Given the description of an element on the screen output the (x, y) to click on. 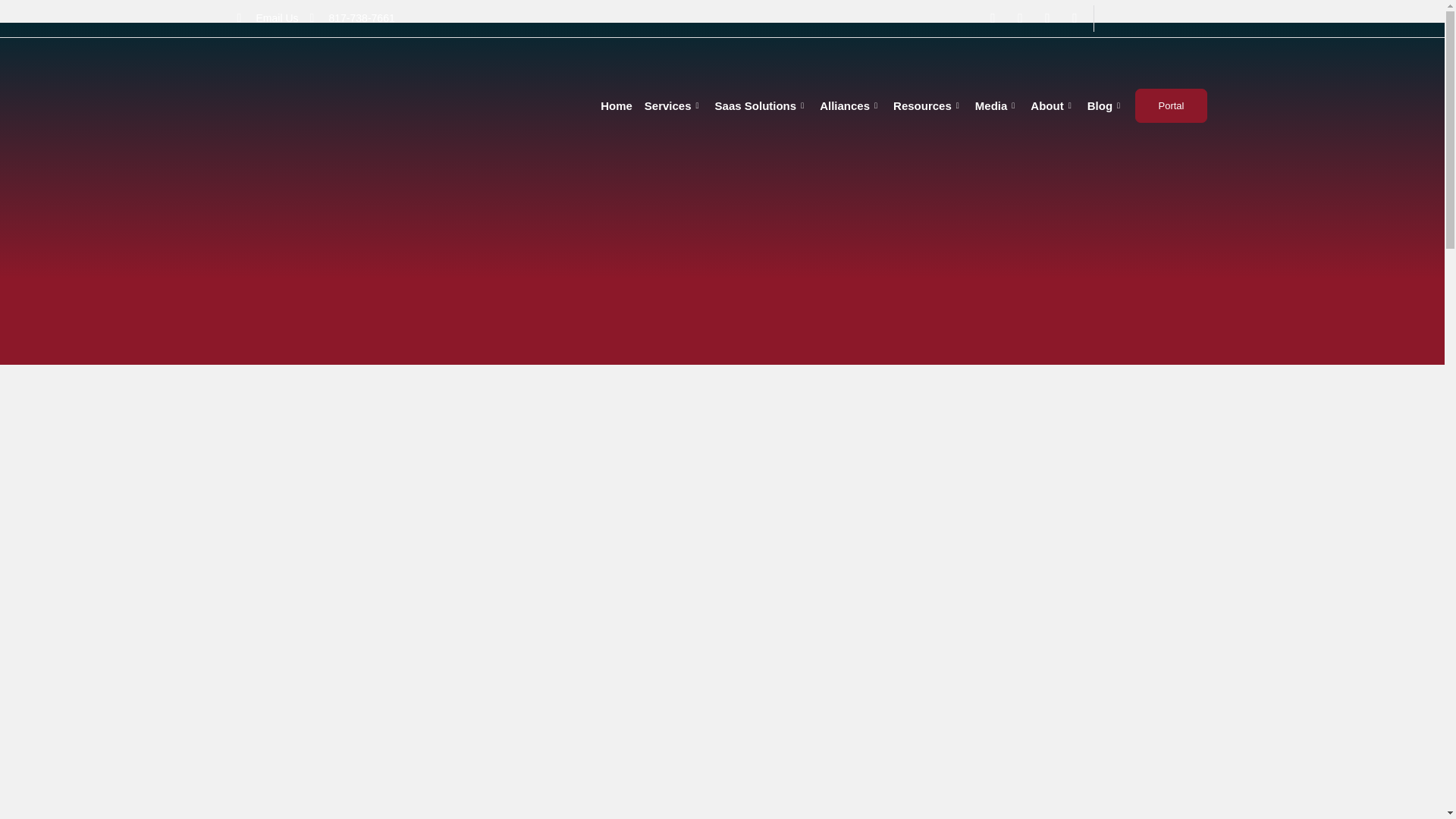
817-738-7661 (352, 18)
Email Us (266, 18)
Resources (927, 105)
Alliances (849, 105)
Services (674, 105)
Home (616, 105)
Saas Solutions (761, 105)
Certrec-Logo-v3-White (343, 105)
